Given the description of an element on the screen output the (x, y) to click on. 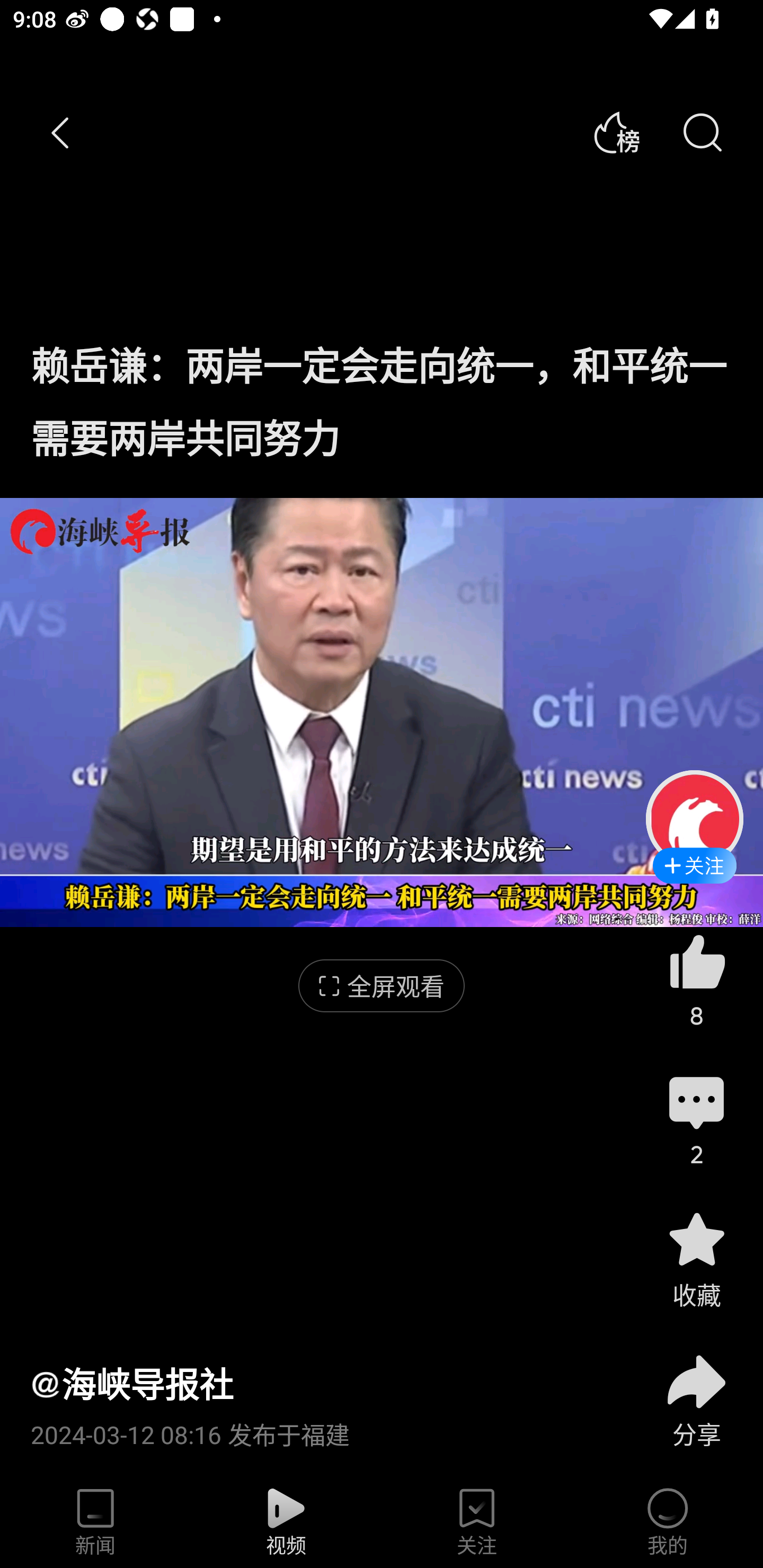
 返回 (60, 133)
 热榜 (616, 133)
 搜索 (701, 133)
赞 8 (696, 979)
全屏观看 (381, 985)
评论  2 (696, 1118)
收藏 (696, 1258)
分享  分享 (696, 1389)
海峡导报社 (131, 1383)
2024-03-12 08:16 发布于福建 (321, 1428)
